Given the description of an element on the screen output the (x, y) to click on. 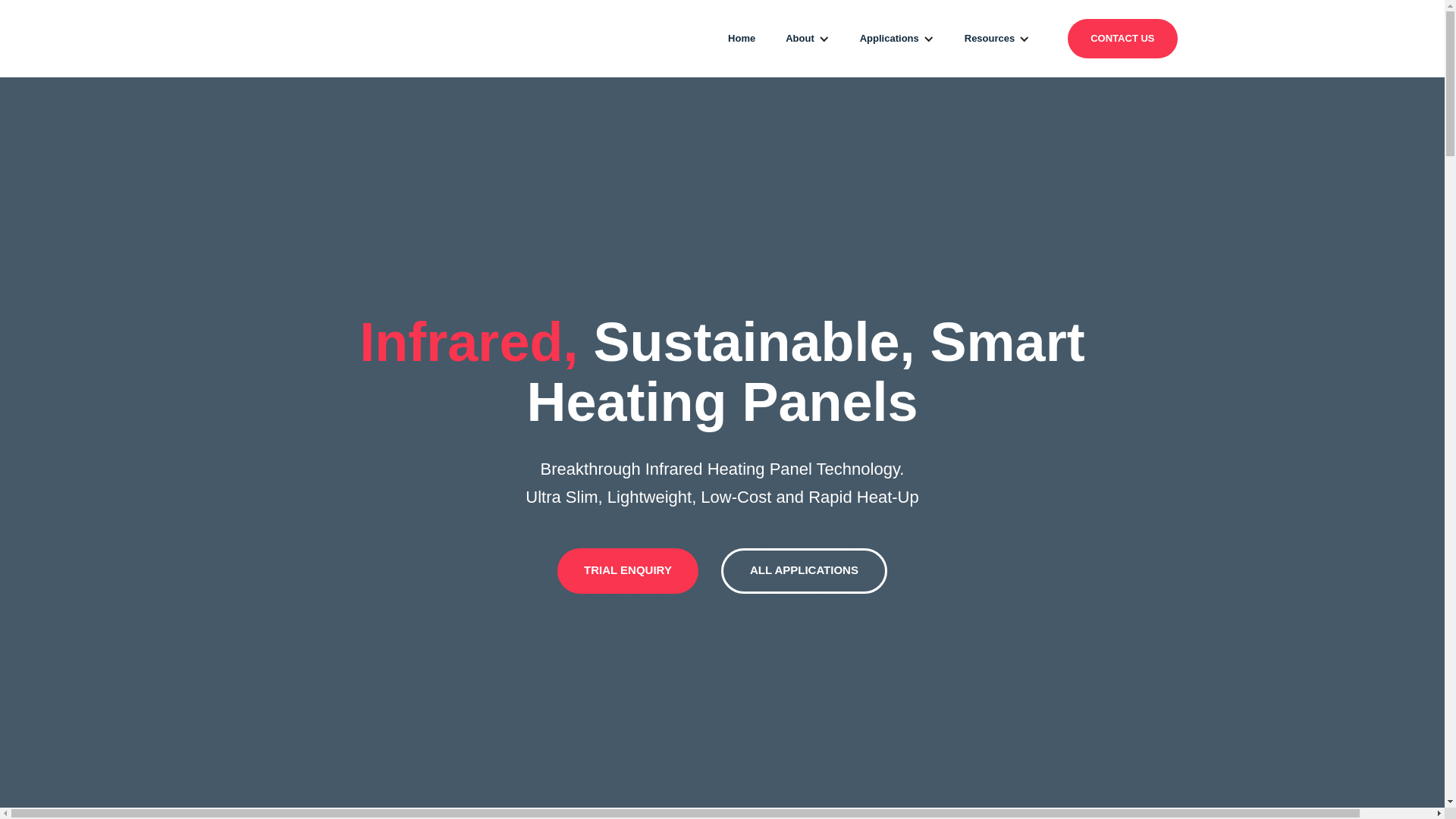
CONTACT US Element type: text (1121, 38)
TRIAL ENQUIRY Element type: text (627, 570)
ALL APPLICATIONS Element type: text (804, 570)
Home Element type: text (741, 38)
